Given the description of an element on the screen output the (x, y) to click on. 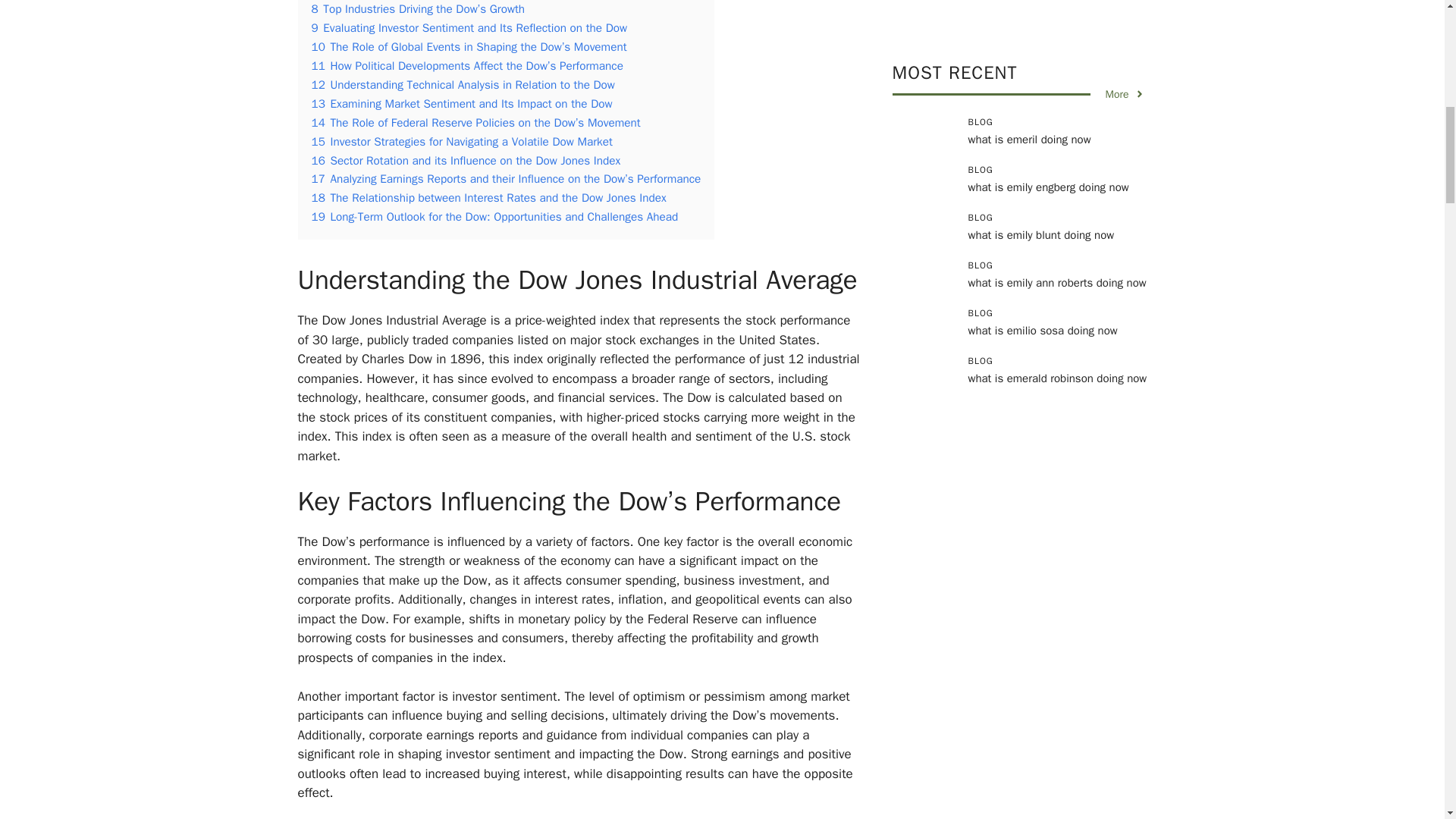
15 Investor Strategies for Navigating a Volatile Dow Market (461, 141)
16 Sector Rotation and its Influence on the Dow Jones Index (465, 160)
12 Understanding Technical Analysis in Relation to the Dow (462, 84)
13 Examining Market Sentiment and Its Impact on the Dow (461, 103)
